Given the description of an element on the screen output the (x, y) to click on. 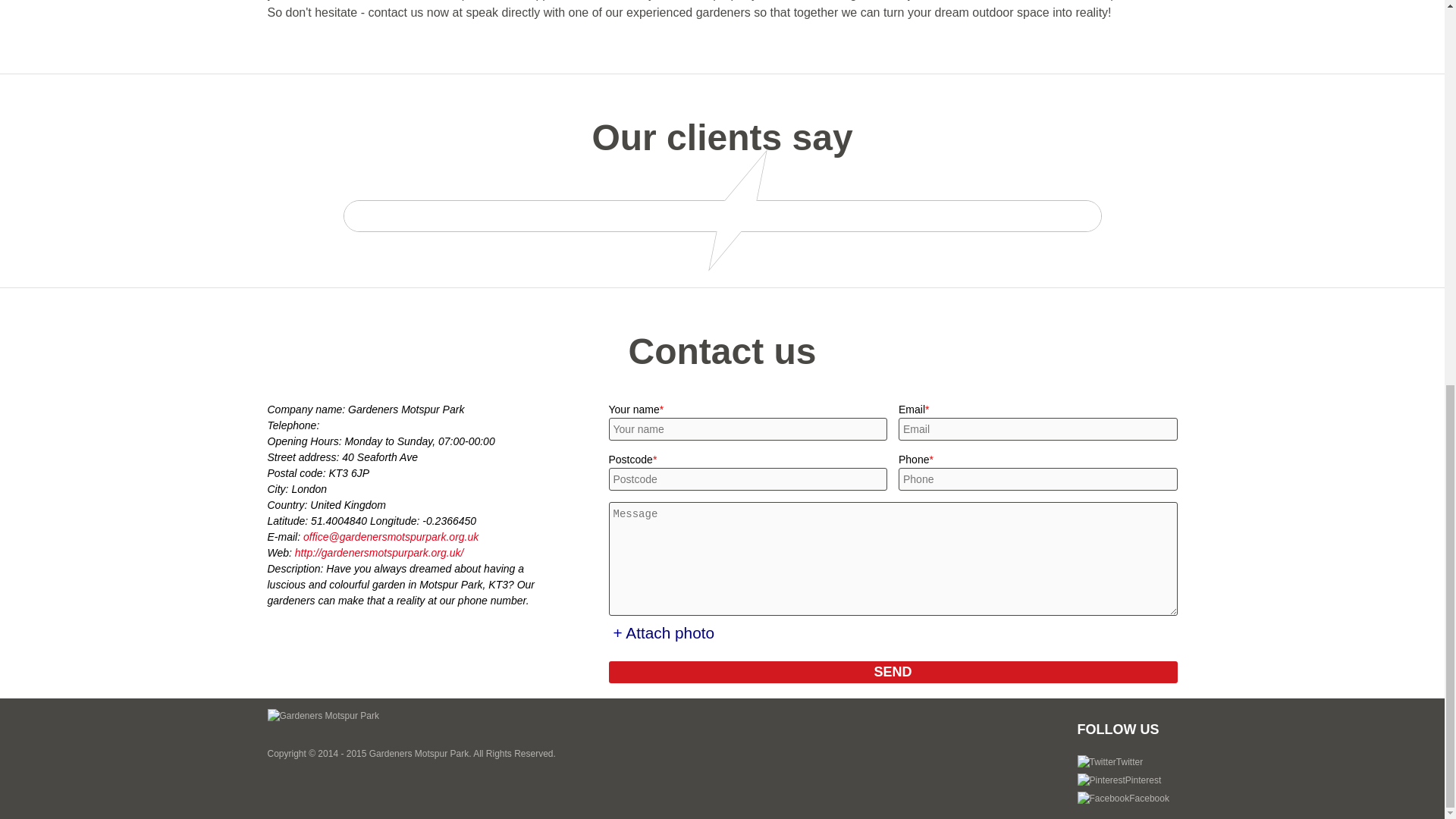
Send E-mail (390, 536)
Twitter (1109, 761)
SEND (892, 671)
